Given the description of an element on the screen output the (x, y) to click on. 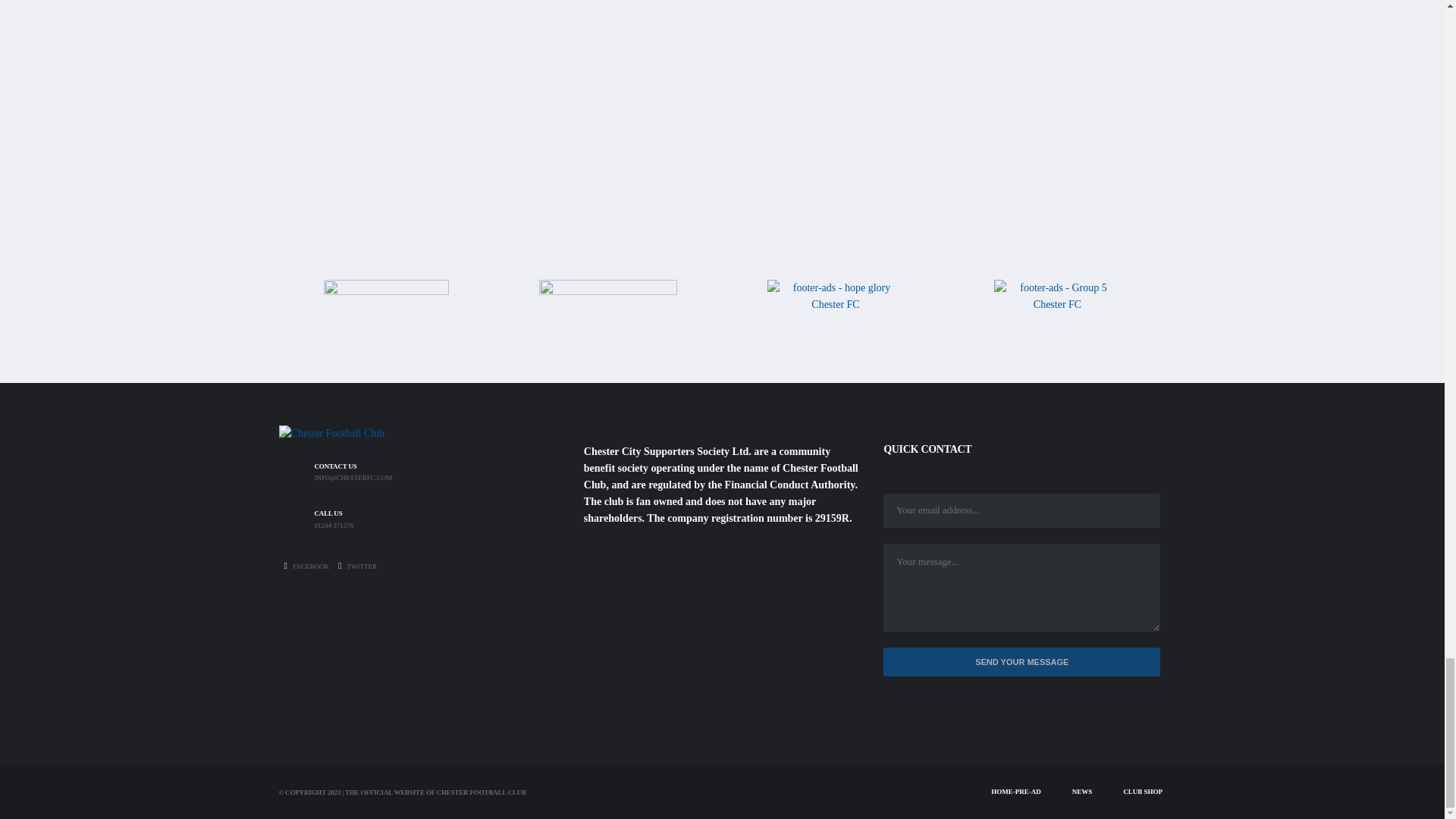
hope glory photo (835, 311)
New-Balance-80 (385, 309)
Send Your Message (1021, 662)
mbna-2019-1 (607, 310)
Group 5 photo (1057, 305)
